Given the description of an element on the screen output the (x, y) to click on. 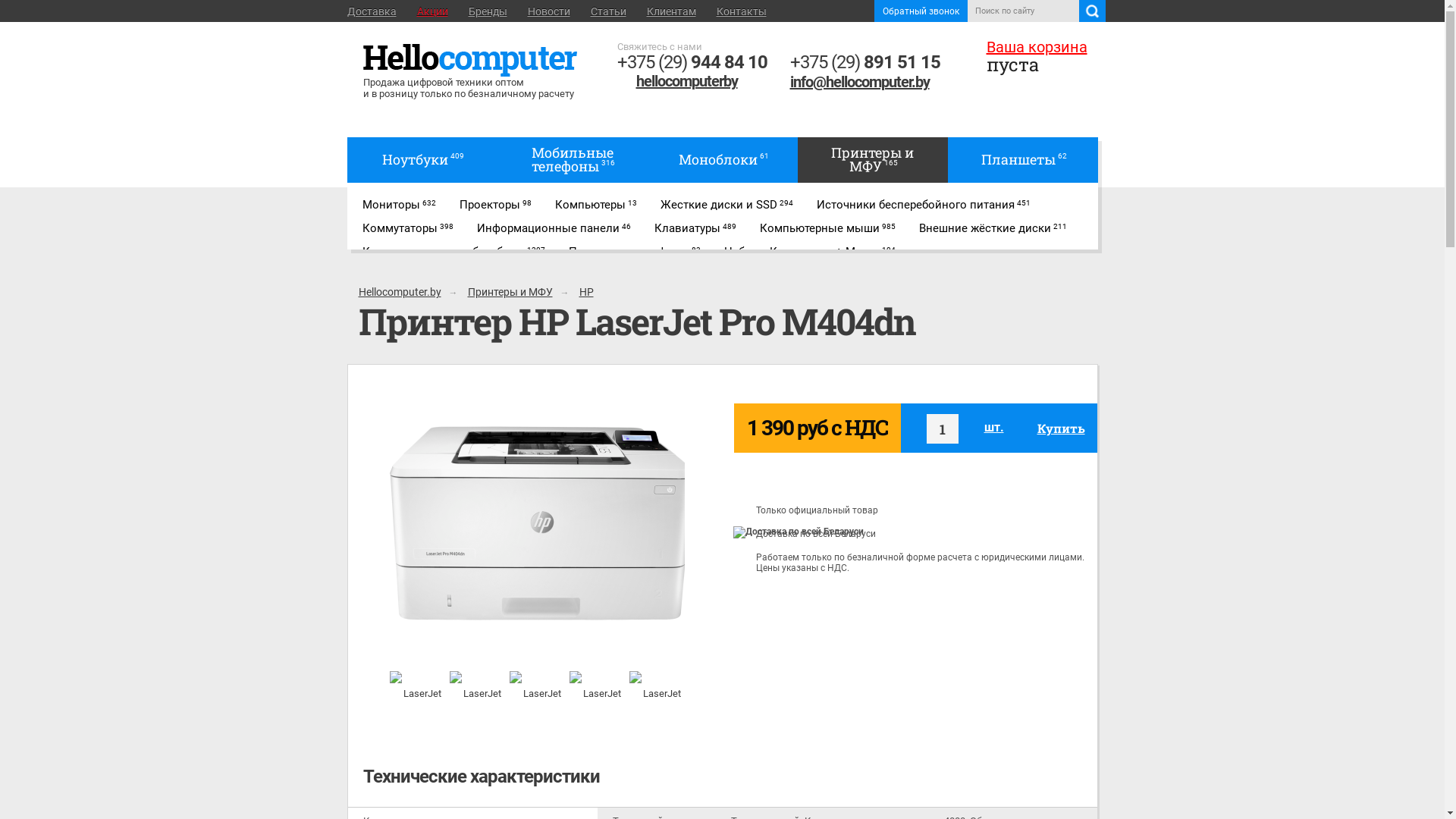
hellocomputerby Element type: text (692, 80)
HP Element type: text (585, 291)
info@hellocomputer.by Element type: text (865, 81)
Hellocomputer.by Element type: text (399, 291)
+375 (29) 944 84 10 Element type: text (692, 62)
+375 (29) 891 51 15 Element type: text (865, 62)
